Given the description of an element on the screen output the (x, y) to click on. 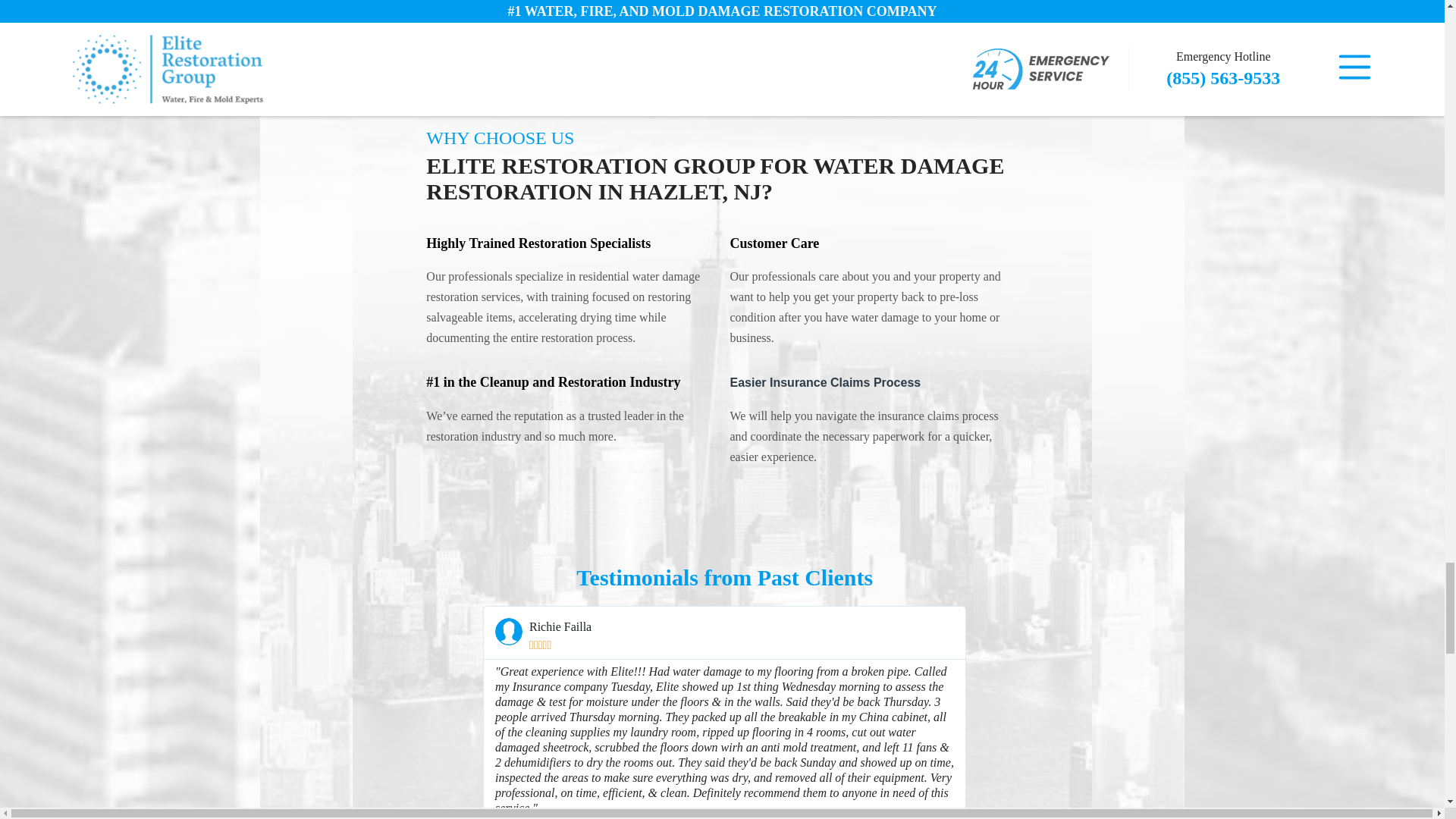
Hazlet Water Damage Restoration Solutions (508, 631)
